Given the description of an element on the screen output the (x, y) to click on. 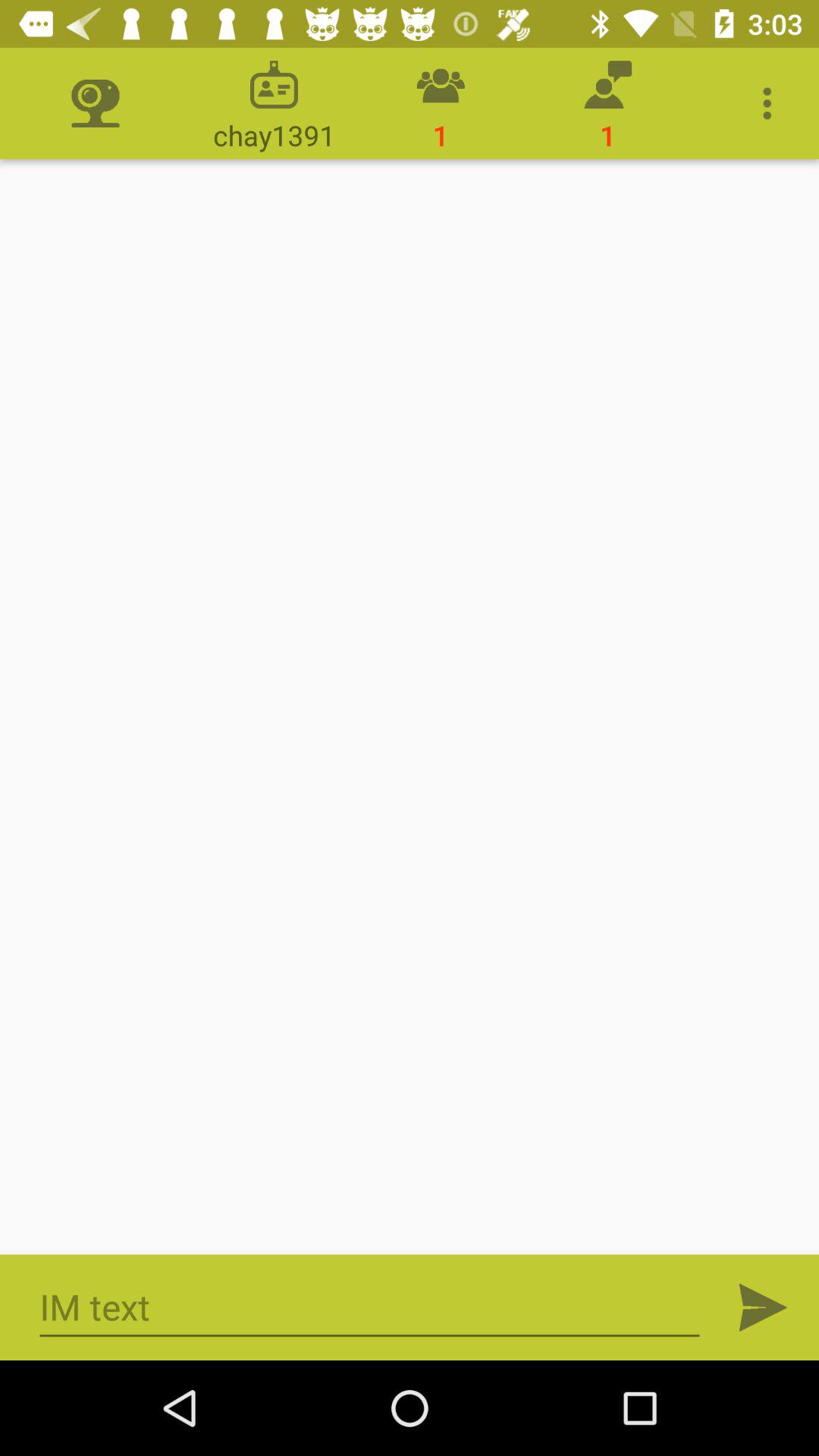
enter data (409, 706)
